Given the description of an element on the screen output the (x, y) to click on. 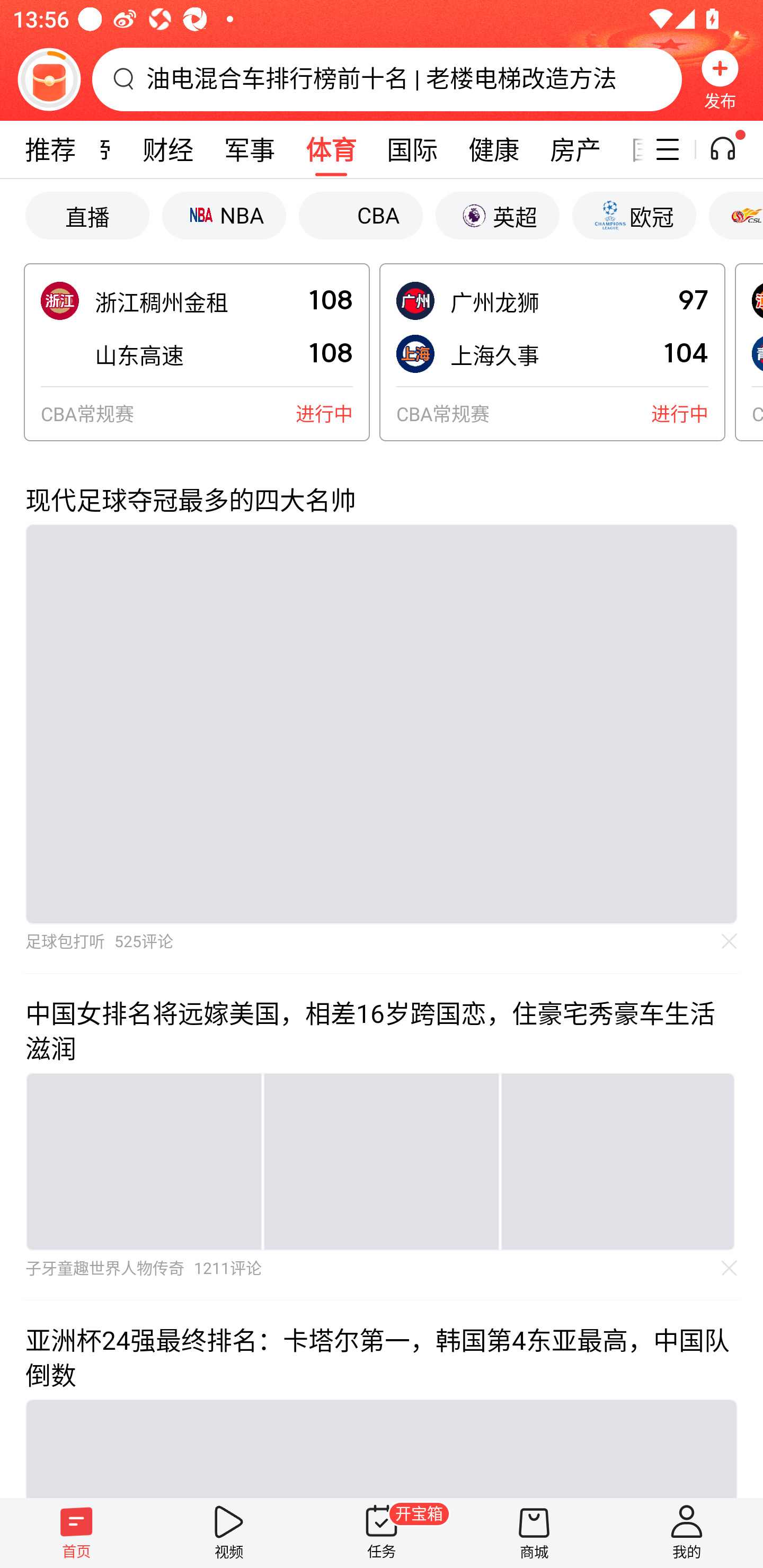
阅读赚金币 (48, 79)
油电混合车排行榜前十名 | 老楼电梯改造方法 搜索框，油电混合车排行榜前十名 | 老楼电梯改造方法 (387, 79)
发布 发布，按钮 (720, 78)
推荐 (49, 149)
财经 (167, 149)
军事 (249, 149)
体育 (331, 149)
国际 (412, 149)
健康 (493, 149)
房产 (575, 149)
听一听开关 (732, 149)
直播 (87, 215)
NBA (223, 215)
CBA (360, 215)
英超 (497, 215)
欧冠 (633, 215)
中超 (735, 215)
现代足球夺冠最多的四大名帅 作者为  足球包打听  525评论   不感兴趣 (381, 716)
不感兴趣 (729, 940)
不感兴趣 (729, 1268)
亚洲杯24强最终排名：卡塔尔第一，韩国第4东亚最高，中国队倒数 (381, 1398)
首页 (76, 1532)
视频 (228, 1532)
任务 开宝箱 (381, 1532)
商城 (533, 1532)
我的 (686, 1532)
